Given the description of an element on the screen output the (x, y) to click on. 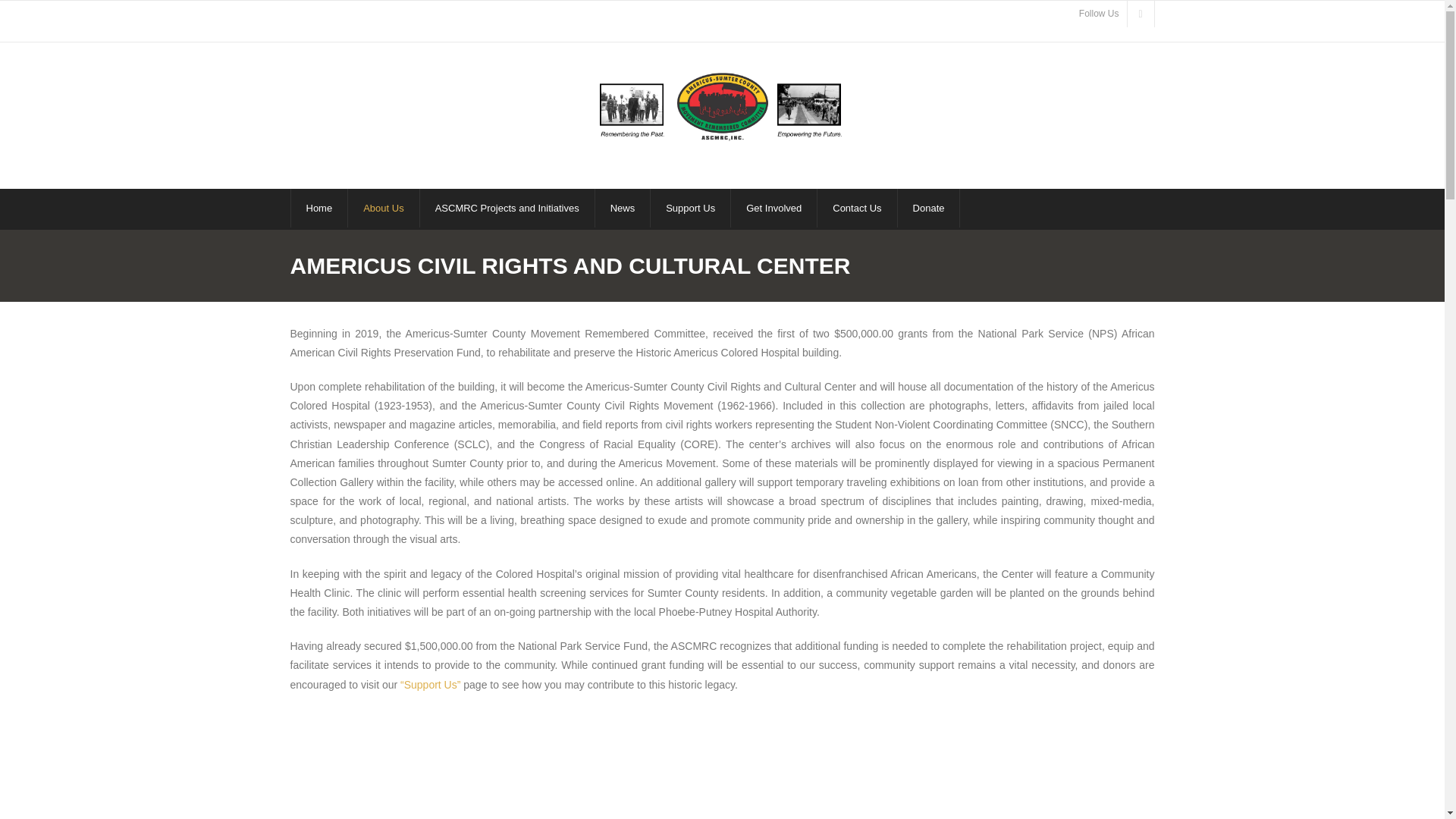
News (622, 208)
Get Involved (773, 208)
Support Us (689, 208)
About Us (383, 208)
Donate (928, 208)
Contact Us (856, 208)
ASCMRC Projects and Initiatives (506, 208)
Home (318, 208)
